Given the description of an element on the screen output the (x, y) to click on. 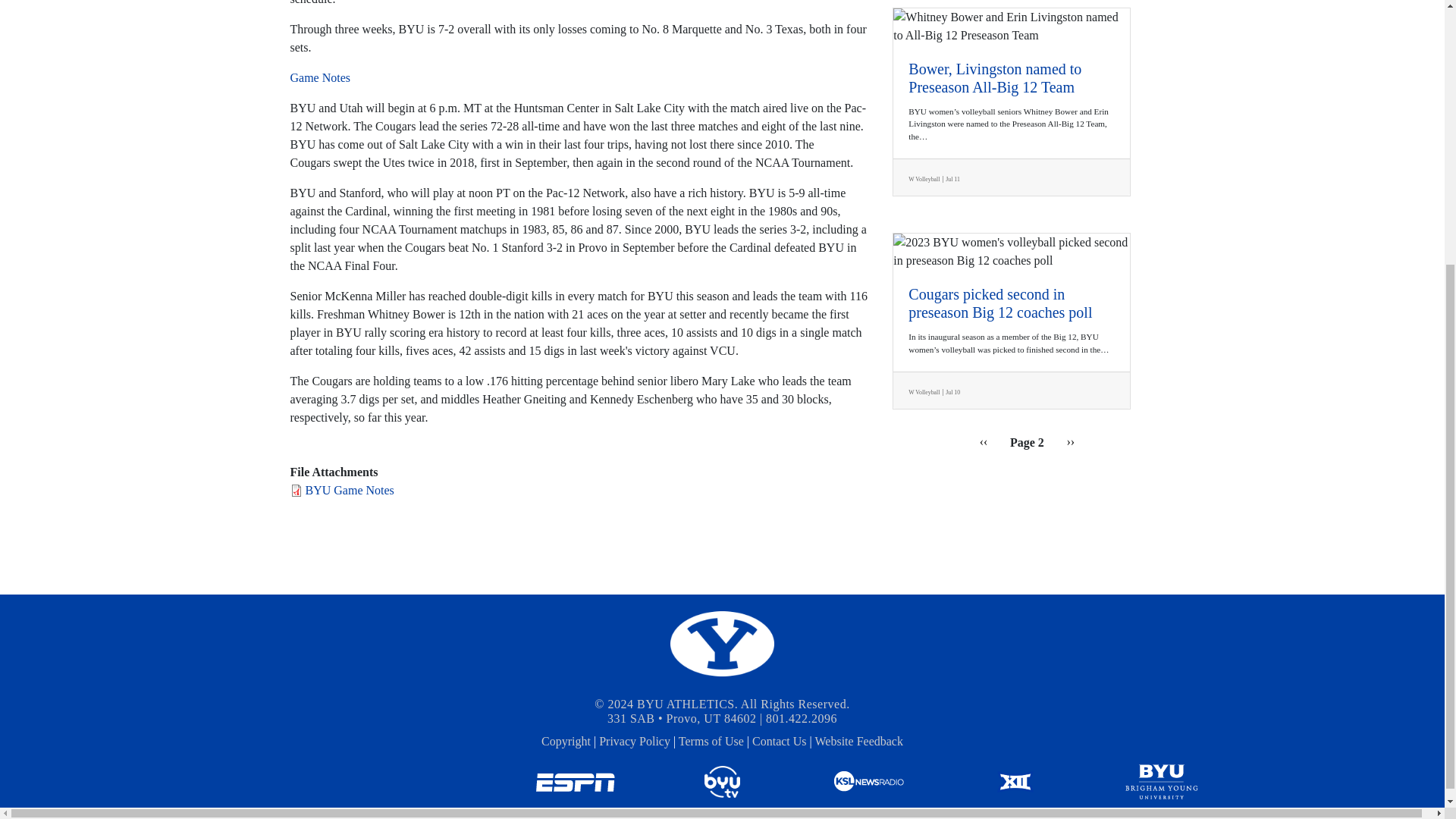
BYU vs. Utah, Stanford Notes.pdf (348, 490)
Go to next page (1070, 441)
Go to previous page (984, 441)
